Given the description of an element on the screen output the (x, y) to click on. 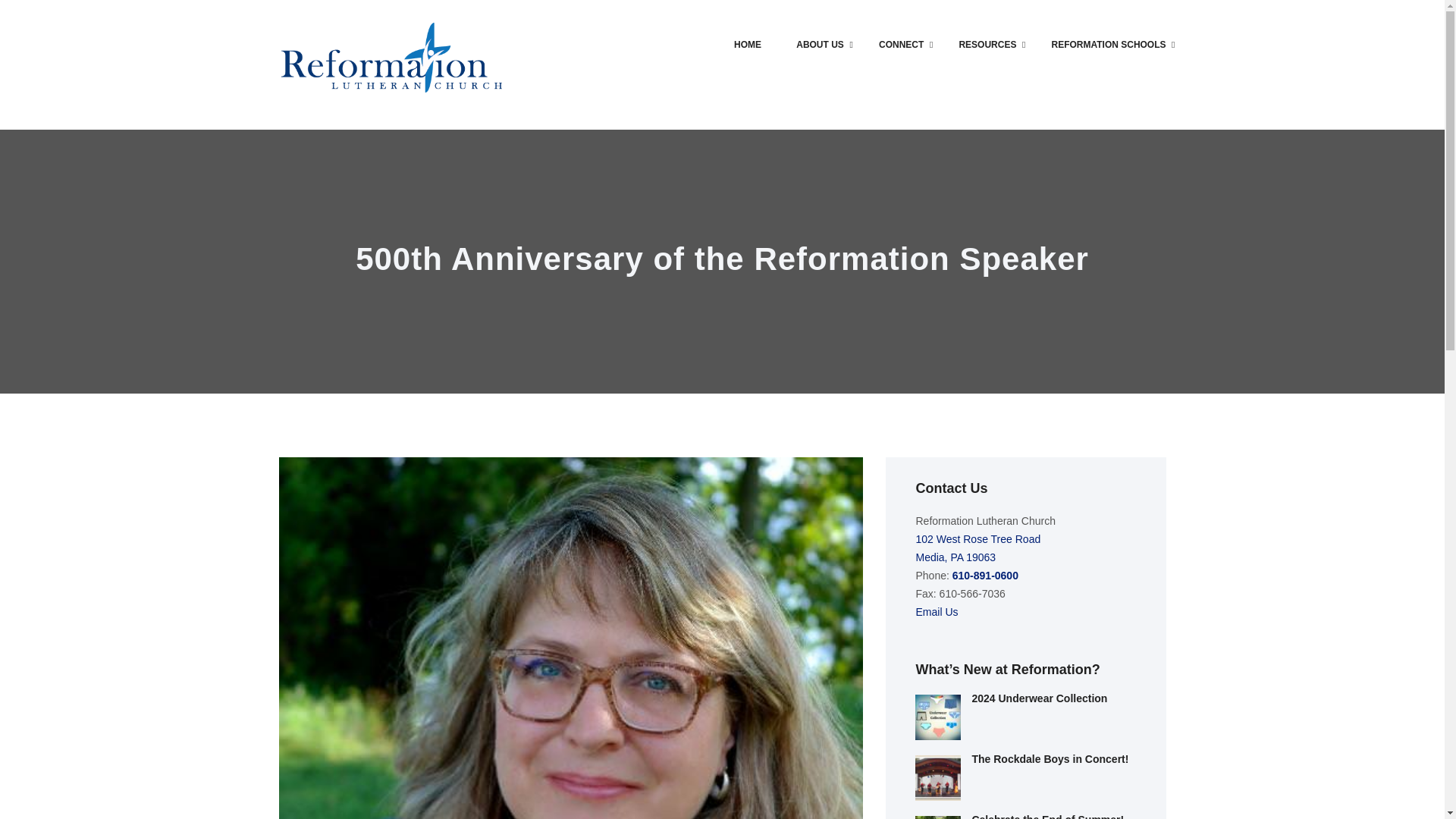
HOME (747, 43)
CONNECT (901, 43)
RESOURCES (987, 43)
See the directions to Reformation (978, 548)
ABOUT US (820, 43)
